Given the description of an element on the screen output the (x, y) to click on. 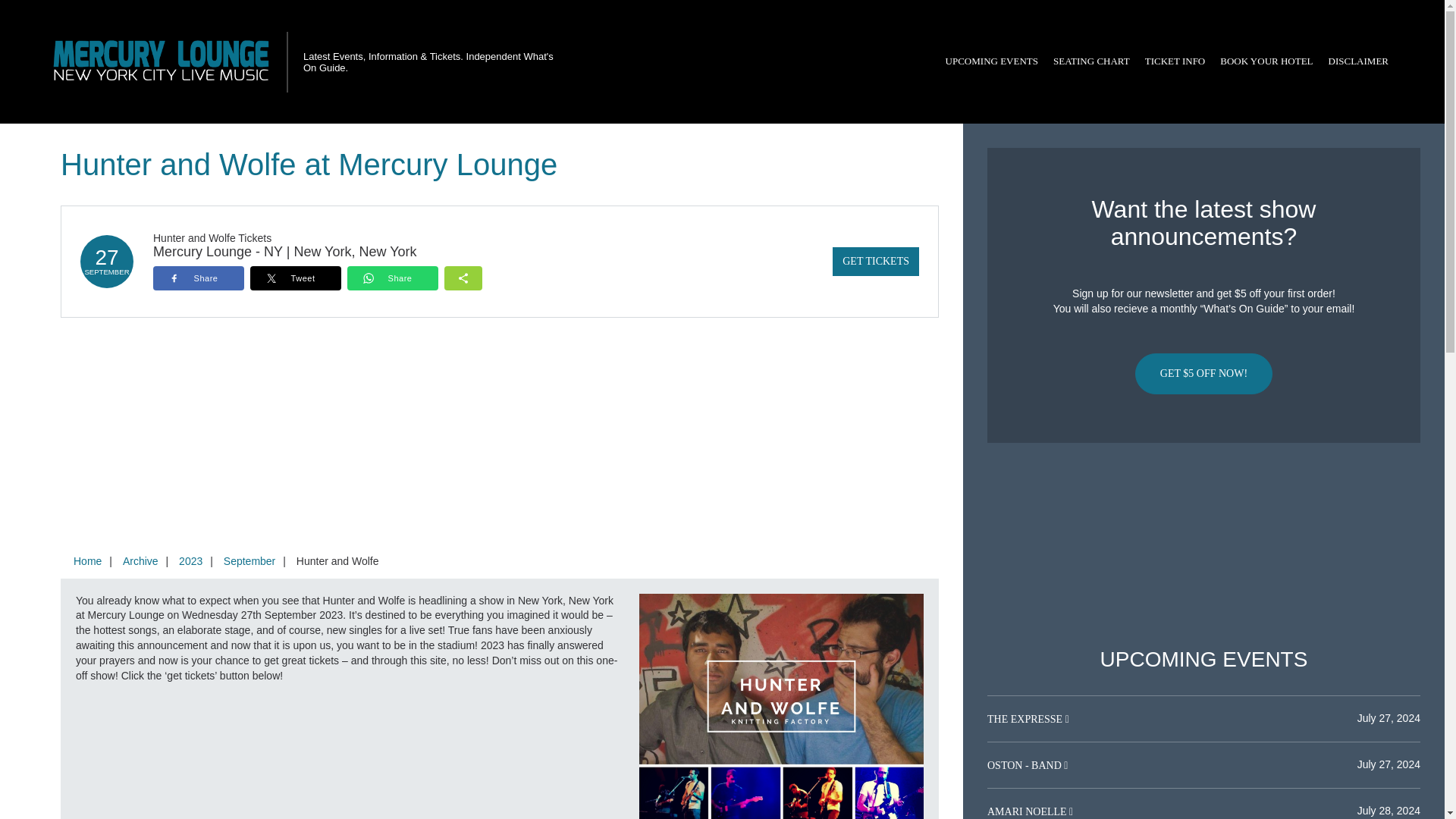
Home (87, 561)
DISCLAIMER (1358, 61)
Hunter and Wolfe Tickets (211, 237)
TICKET INFO (1174, 61)
September (248, 561)
SEATING CHART (1091, 61)
2023 (190, 561)
GET TICKETS (875, 261)
UPCOMING EVENTS (991, 61)
BOOK YOUR HOTEL (1266, 61)
Archive (140, 561)
Advertisement (1204, 545)
